Given the description of an element on the screen output the (x, y) to click on. 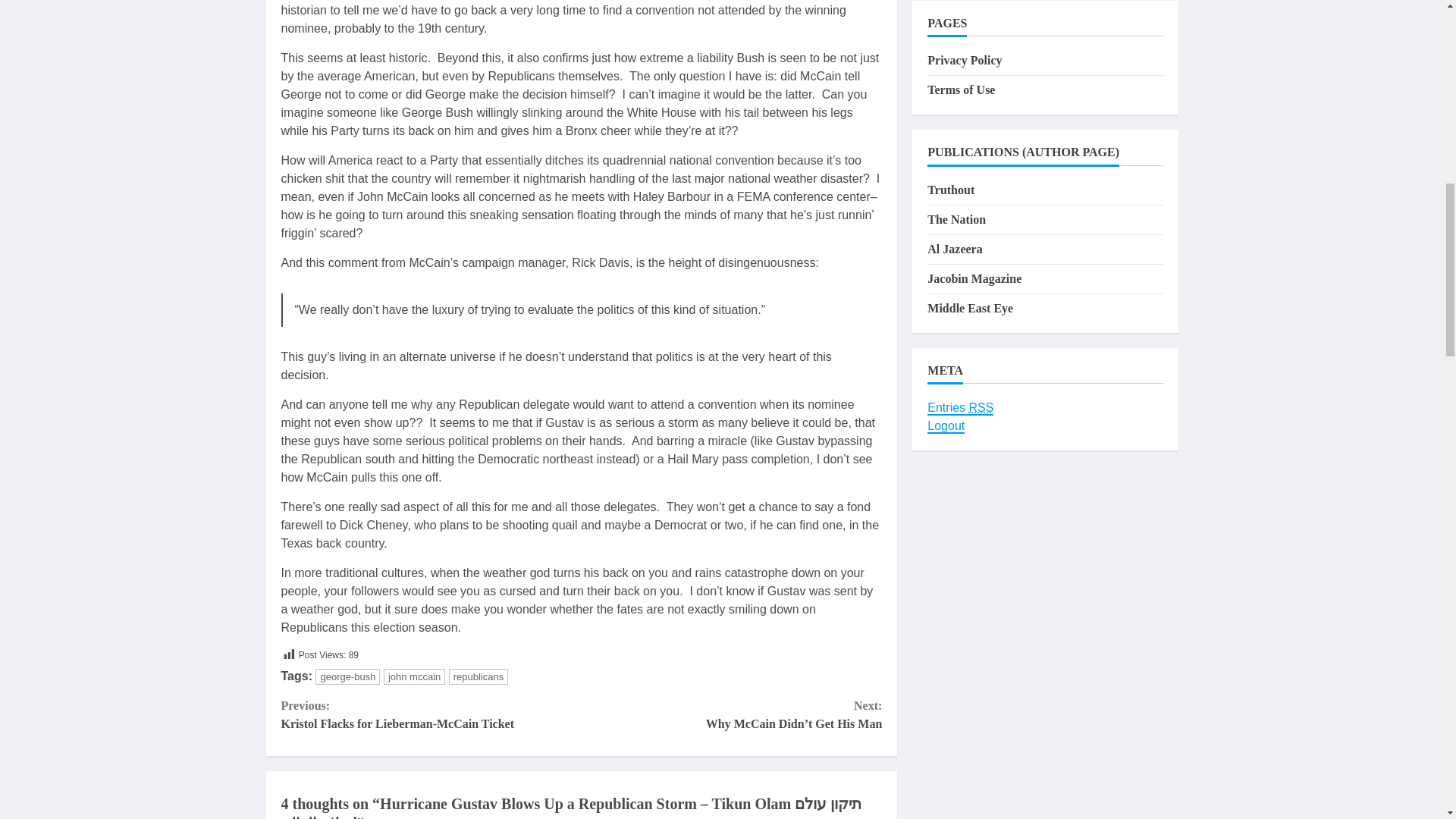
Really Simple Syndication (981, 407)
george-bush (347, 676)
republicans (478, 676)
john mccain (430, 714)
